Given the description of an element on the screen output the (x, y) to click on. 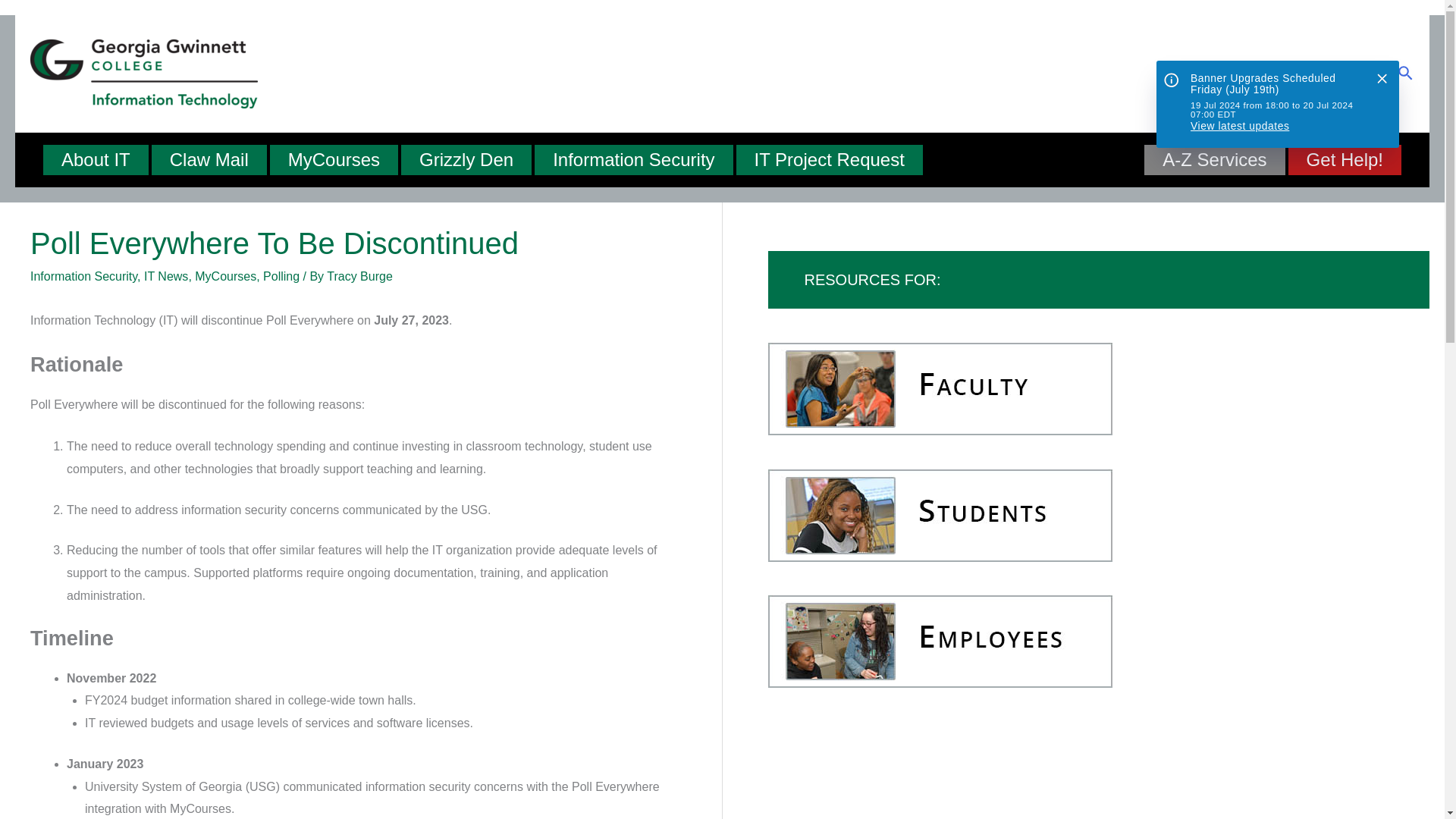
Get Help! (1344, 159)
MyCourses (225, 276)
Claw Mail (208, 159)
IT News (165, 276)
MyCourses (333, 159)
IT Project Request (829, 159)
Information Security (83, 276)
GGC Status (1277, 104)
View all posts by Tracy Burge (359, 276)
About IT (95, 159)
Grizzly Den (466, 159)
A-Z Services (1214, 159)
Information Security (633, 159)
Tracy Burge (359, 276)
